Given the description of an element on the screen output the (x, y) to click on. 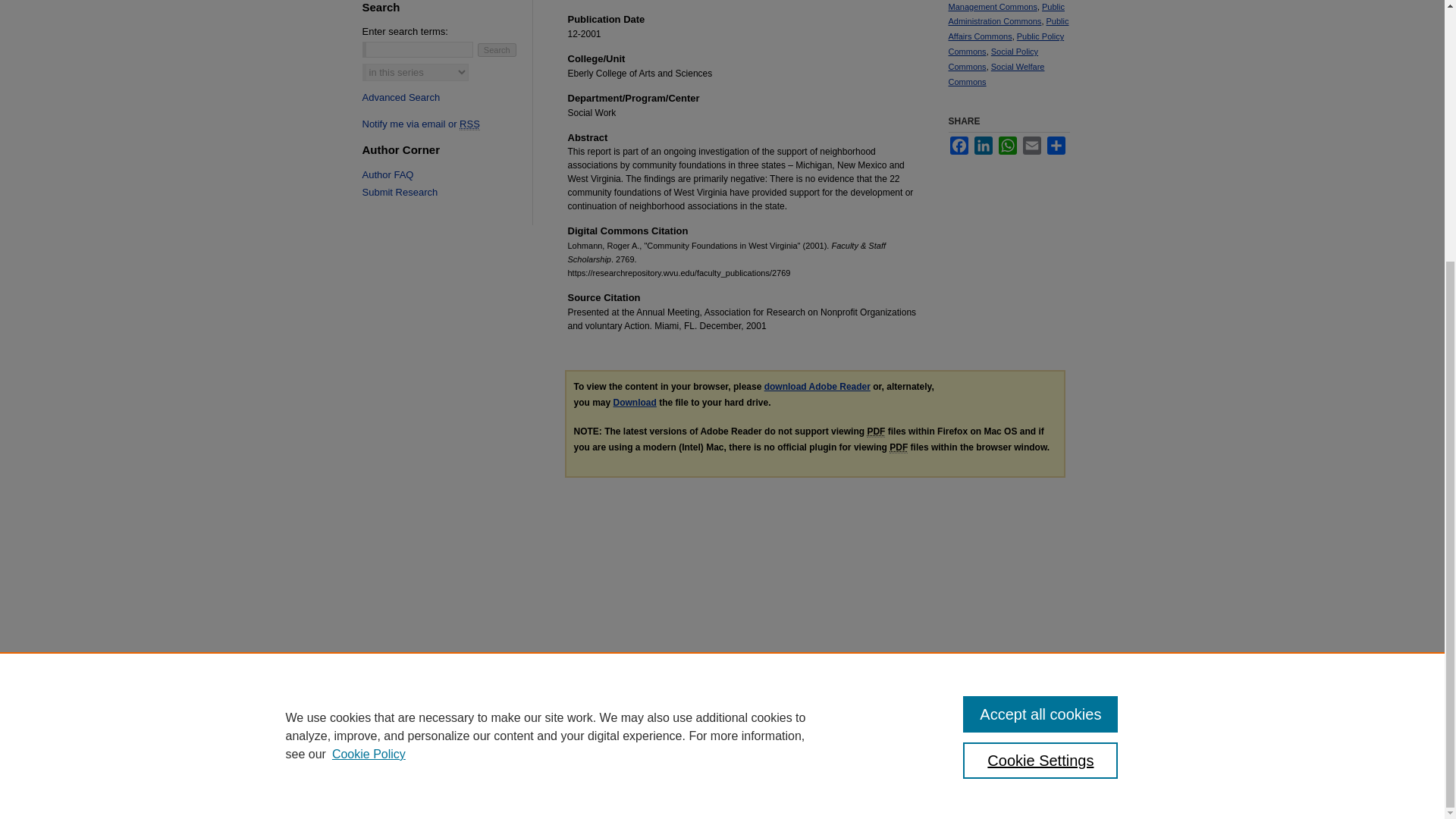
Email (1031, 145)
WhatsApp (1006, 145)
Nonprofit Administration and Management Commons (999, 5)
Public Affairs Commons (1007, 28)
Facebook (958, 145)
Public Affairs Commons (1007, 28)
Social Welfare Commons (995, 74)
Nonprofit Administration and Management Commons (999, 5)
Public Administration Commons (1005, 14)
download Adobe Reader (817, 386)
Public Administration Commons (1005, 14)
Search (496, 49)
Share (1055, 145)
Public Policy Commons (1005, 43)
Public Policy Commons (1005, 43)
